Given the description of an element on the screen output the (x, y) to click on. 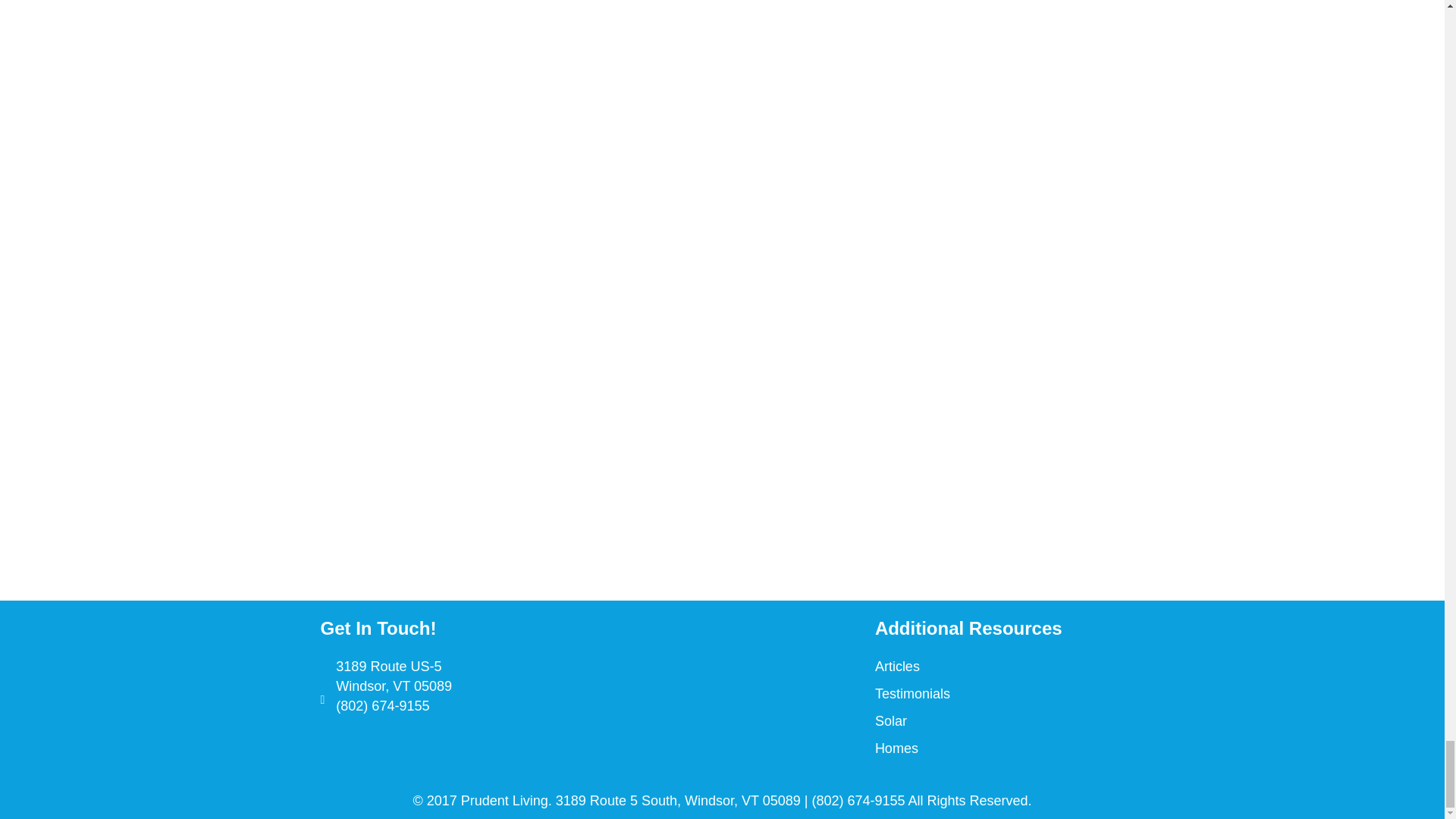
Homes (896, 748)
Articles (897, 666)
Solar (891, 720)
Testimonials (912, 693)
